Given the description of an element on the screen output the (x, y) to click on. 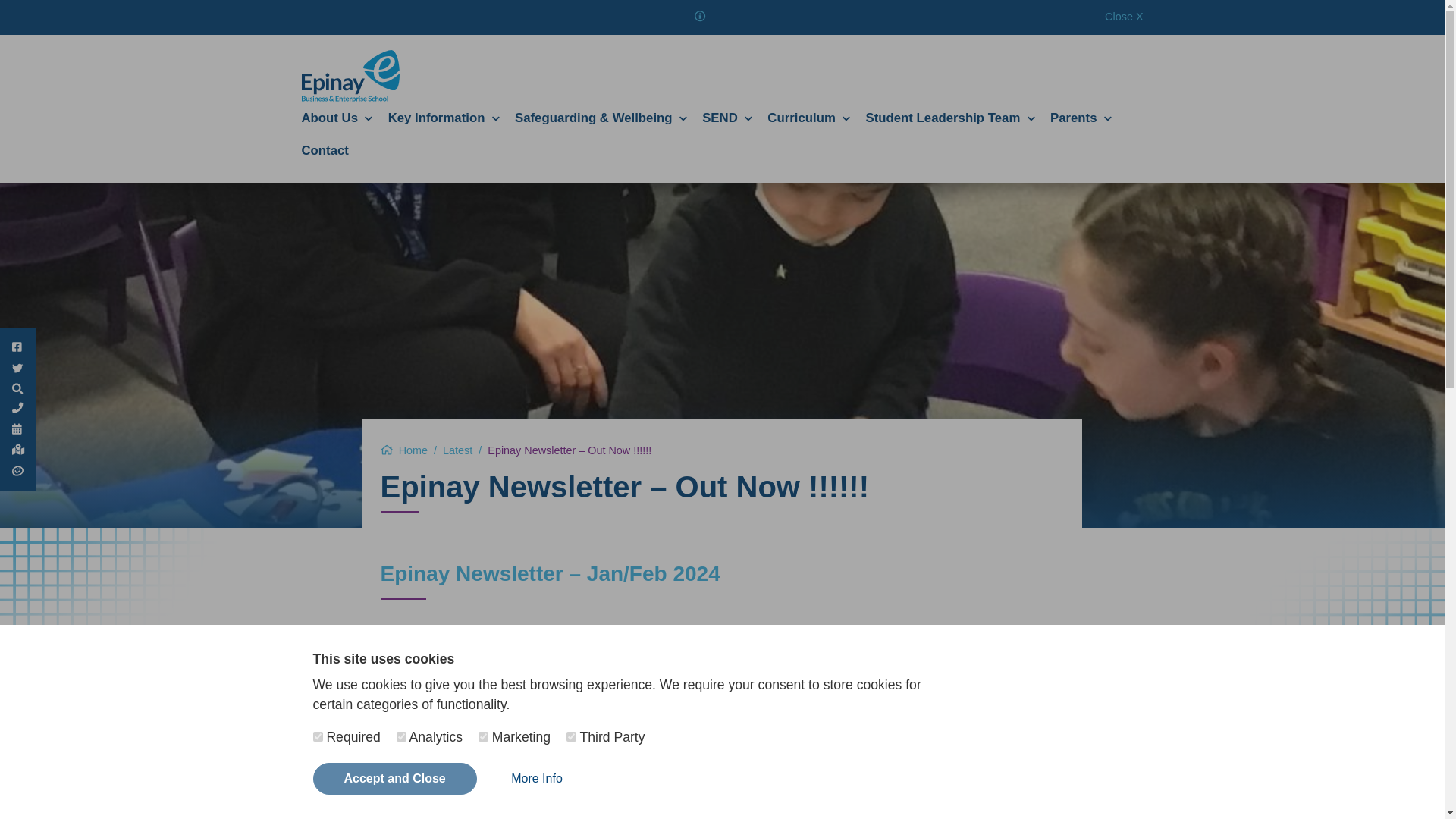
on (483, 737)
on (571, 737)
About Us (336, 119)
on (401, 737)
on (317, 737)
SEND (726, 119)
Key Information (443, 119)
